Given the description of an element on the screen output the (x, y) to click on. 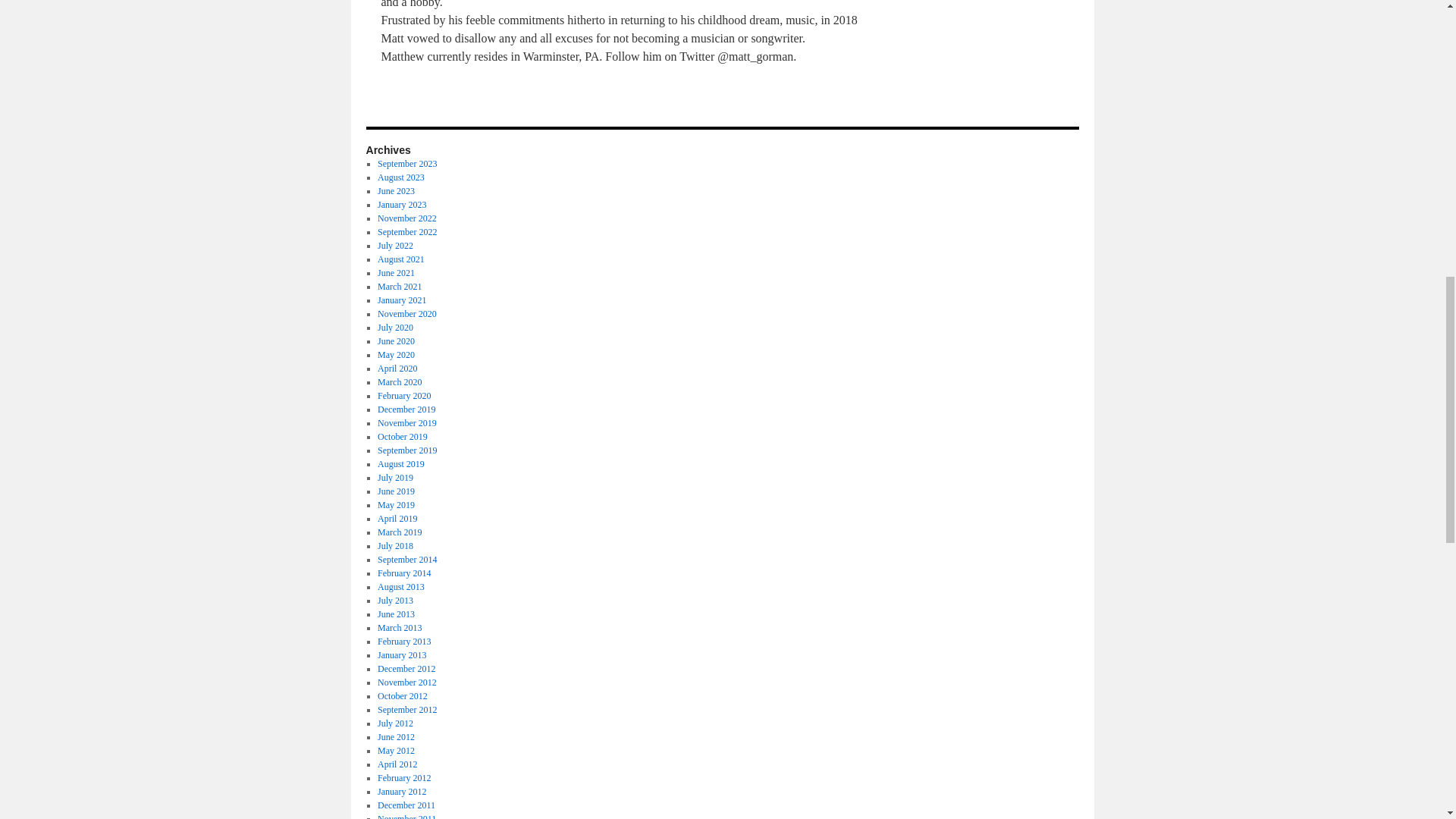
February 2020 (403, 395)
March 2021 (399, 286)
June 2021 (395, 272)
June 2023 (395, 190)
March 2020 (399, 381)
January 2021 (401, 299)
August 2023 (401, 176)
November 2022 (406, 217)
April 2020 (396, 368)
August 2021 (401, 258)
